Given the description of an element on the screen output the (x, y) to click on. 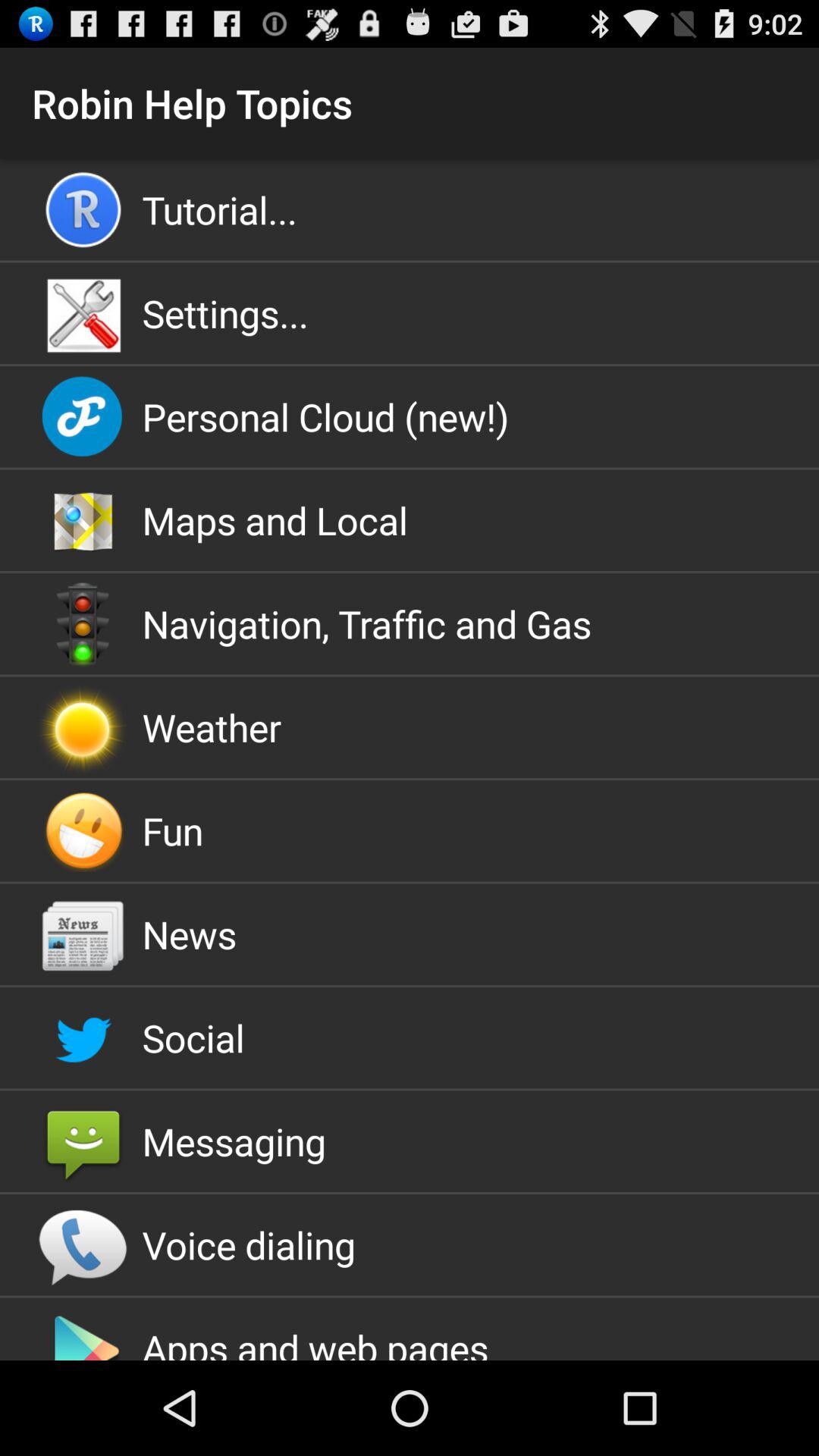
select item below  maps and local (409, 623)
